Given the description of an element on the screen output the (x, y) to click on. 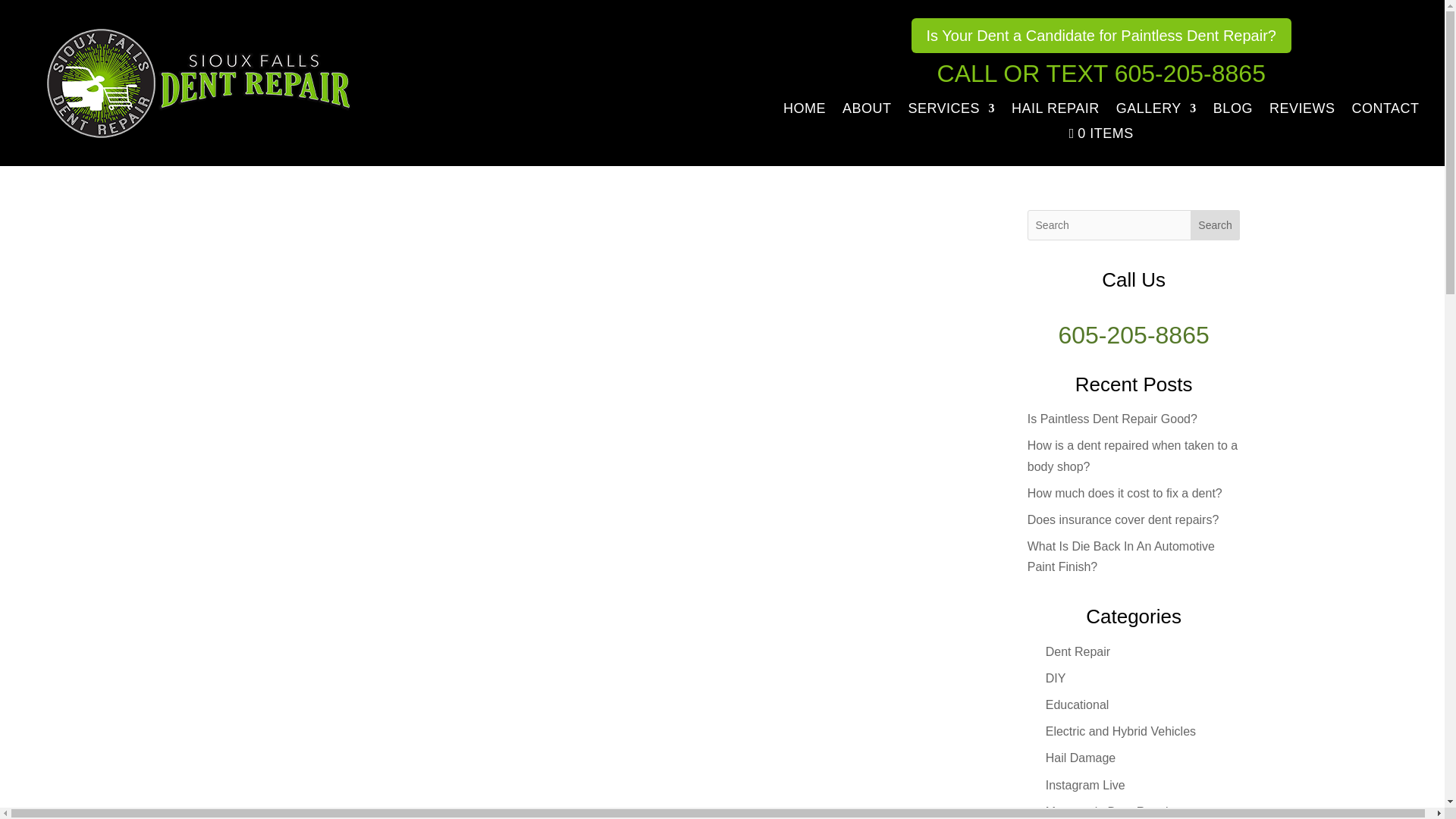
GALLERY (1156, 111)
What Is Die Back In An Automotive Paint Finish? (1120, 556)
Dent Repair (1077, 651)
HOME (804, 111)
How much does it cost to fix a dent? (1125, 492)
Does insurance cover dent repairs? (1123, 519)
HAIL REPAIR (1055, 111)
Educational (1077, 704)
Instagram Live (1085, 784)
ABOUT (867, 111)
Hail Damage (1080, 757)
REVIEWS (1302, 111)
Start shopping (1101, 137)
DIY (1055, 677)
Is Your Dent a Candidate for Paintless Dent Repair? (1101, 35)
